Given the description of an element on the screen output the (x, y) to click on. 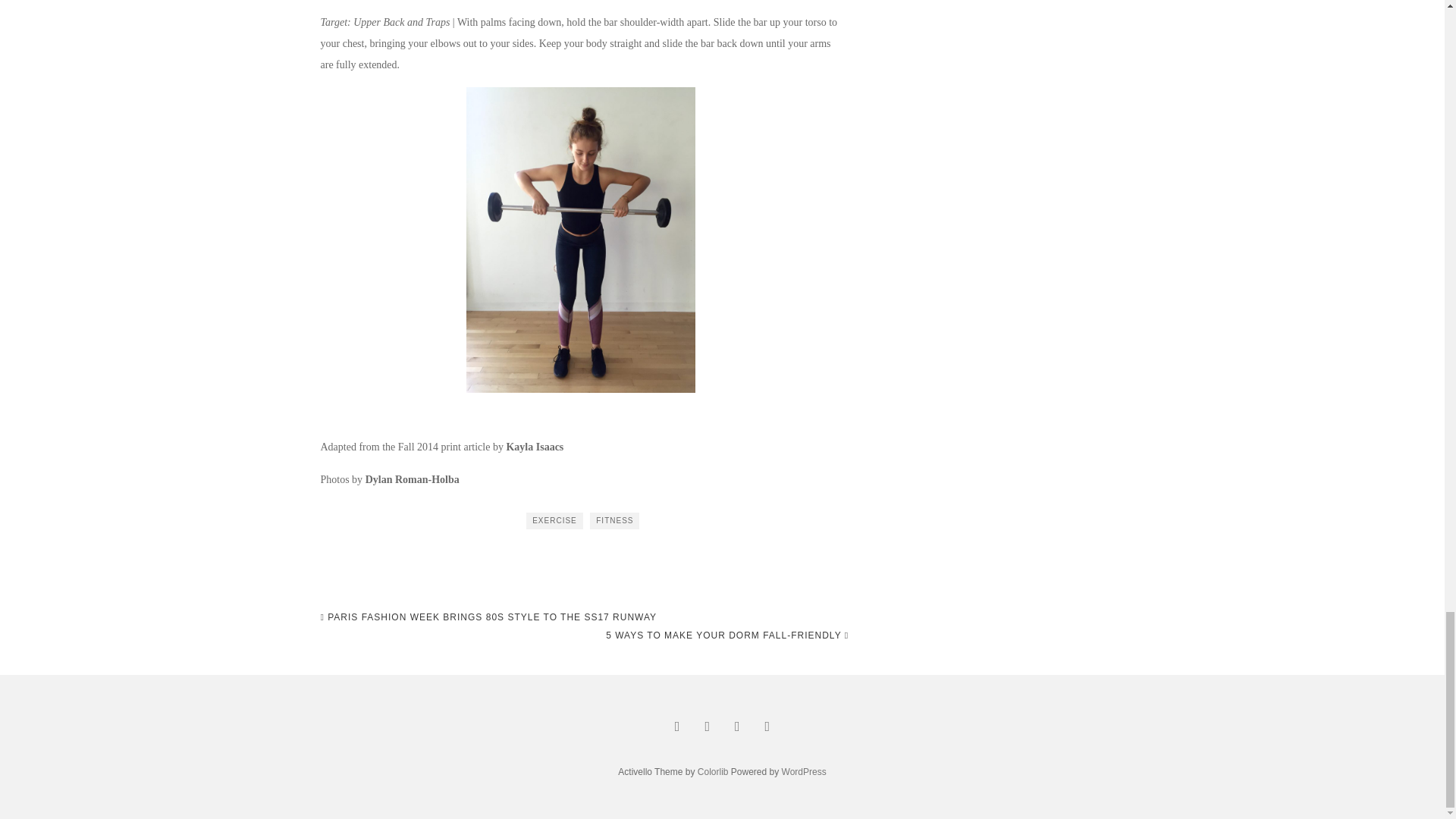
PARIS FASHION WEEK BRINGS 80S STYLE TO THE SS17 RUNWAY (488, 617)
5 WAYS TO MAKE YOUR DORM FALL-FRIENDLY (726, 635)
EXERCISE (554, 520)
FITNESS (614, 520)
